Given the description of an element on the screen output the (x, y) to click on. 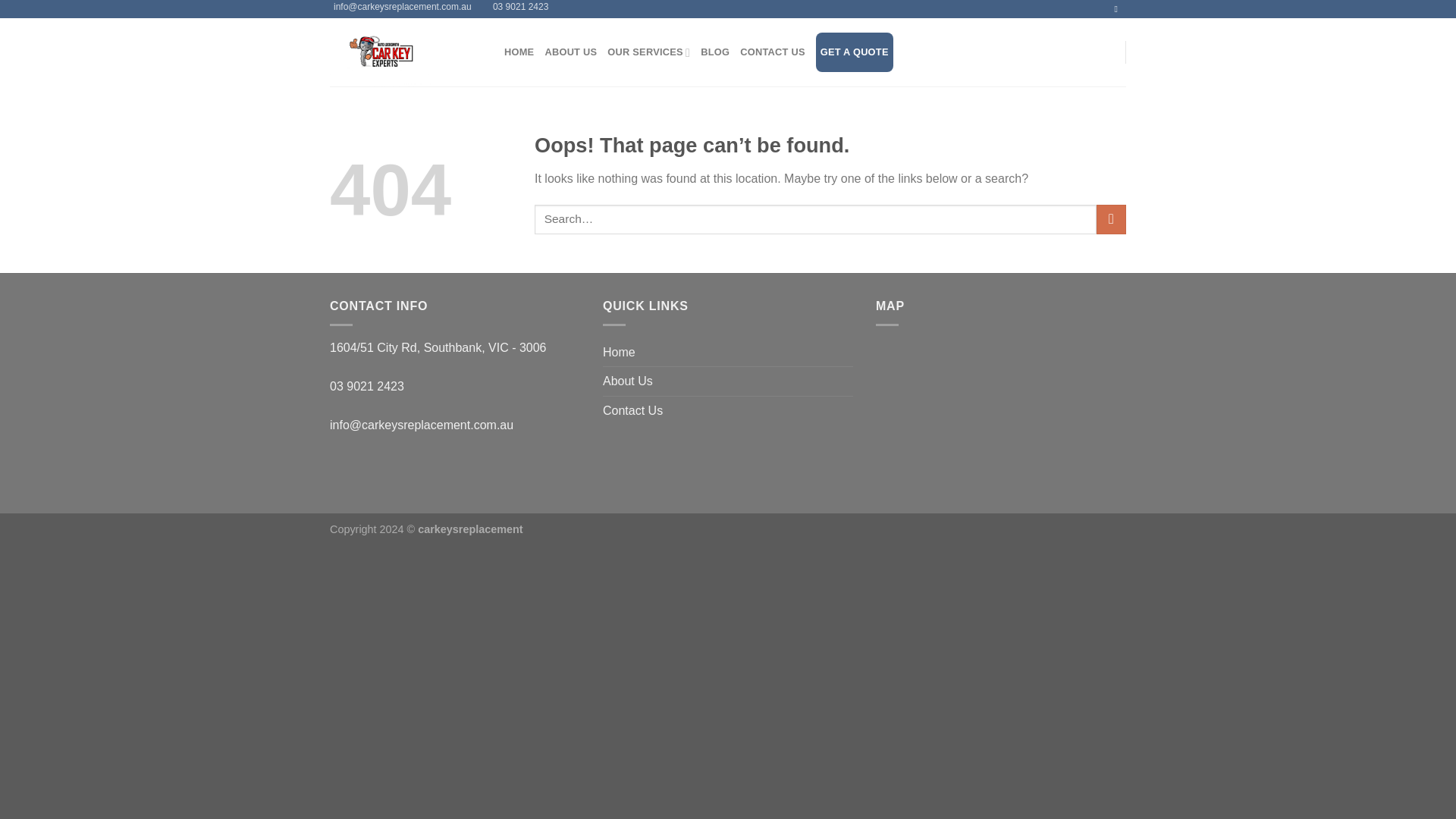
BLOG (714, 51)
Car keys Experts - Automotive locksmith in Melbourne (405, 52)
OUR SERVICES (648, 51)
GET A QUOTE (854, 51)
ABOUT US (570, 51)
03 9021 2423 (367, 386)
03 9021 2423 (518, 9)
CONTACT US (772, 51)
Home (618, 352)
Contact Us (632, 410)
